Given the description of an element on the screen output the (x, y) to click on. 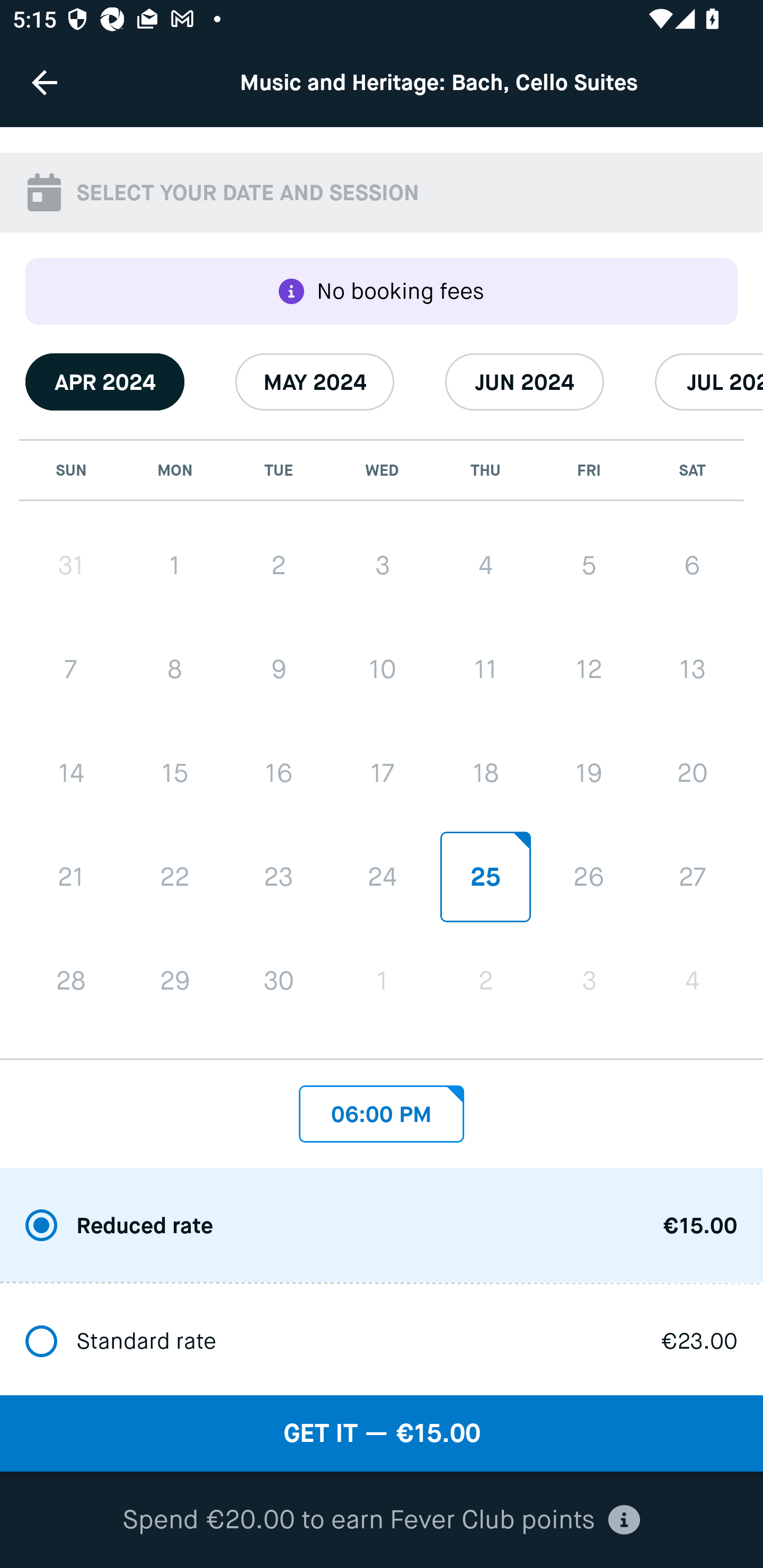
Navigate up (44, 82)
APR 2024 (104, 381)
MAY 2024 (314, 381)
JUN 2024 (524, 381)
JUL 2024 (708, 381)
31 (70, 565)
1 (174, 565)
2 (278, 565)
3 (382, 565)
4 (485, 565)
5 (588, 565)
6 (692, 565)
7 (70, 669)
8 (174, 669)
9 (278, 669)
10 (382, 669)
11 (485, 669)
12 (588, 669)
13 (692, 669)
14 (70, 772)
15 (174, 772)
16 (278, 772)
17 (382, 772)
18 (485, 772)
19 (588, 772)
20 (692, 772)
21 (70, 877)
22 (174, 877)
23 (278, 877)
24 (382, 876)
25 (485, 876)
26 (588, 876)
27 (692, 876)
28 (70, 981)
29 (174, 981)
30 (278, 981)
1 (382, 980)
2 (485, 980)
3 (588, 980)
4 (692, 980)
06:00 PM (381, 1109)
Reduced rate €15.00 (381, 1226)
Standard rate €23.00 (381, 1339)
GET IT — €15.00 (381, 1433)
Spend €20.00 to earn Fever Club points (381, 1519)
